Given the description of an element on the screen output the (x, y) to click on. 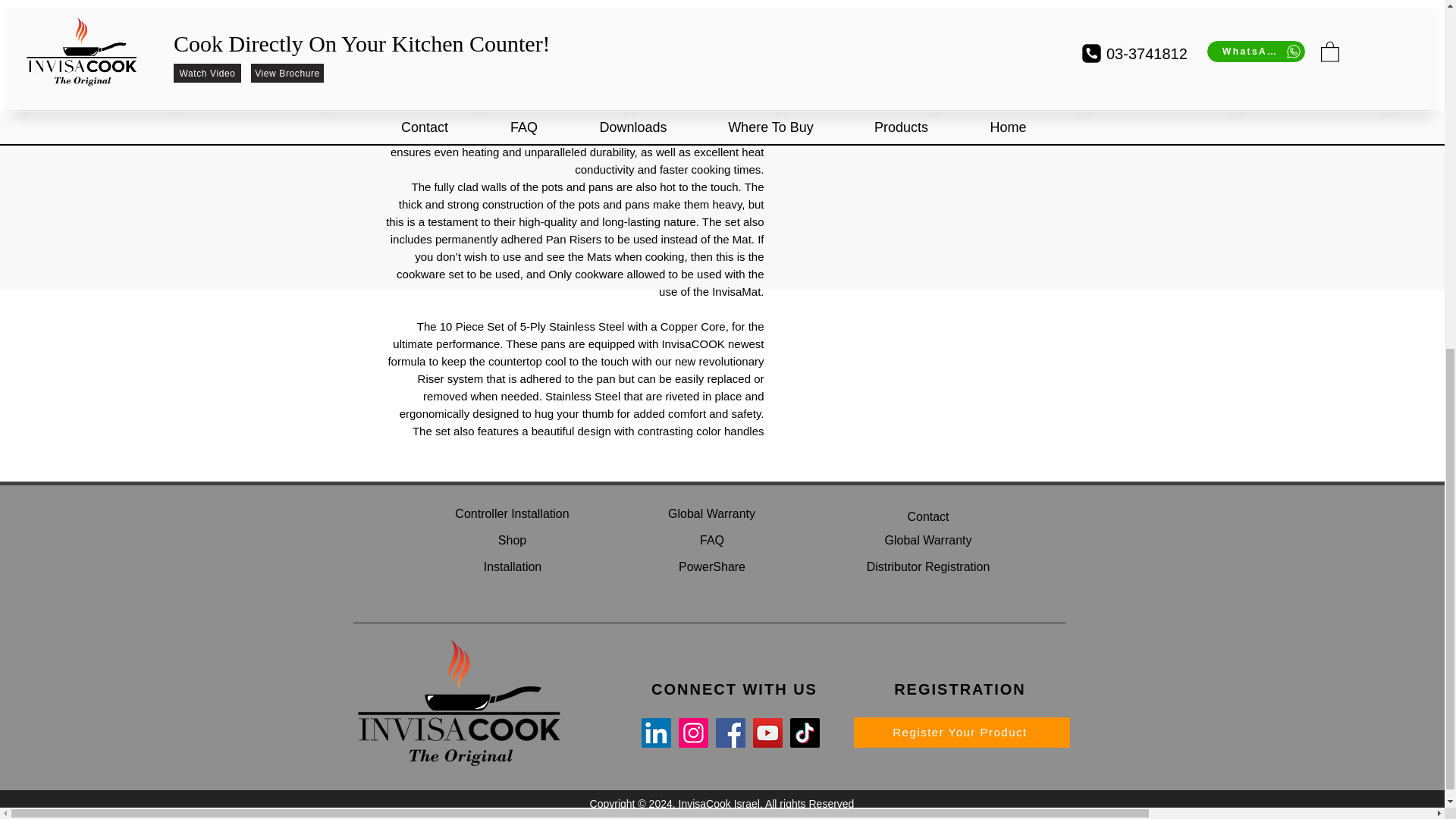
Controller Installation (511, 513)
Shop (511, 540)
Installation (512, 566)
Global Warranty (711, 513)
